Given the description of an element on the screen output the (x, y) to click on. 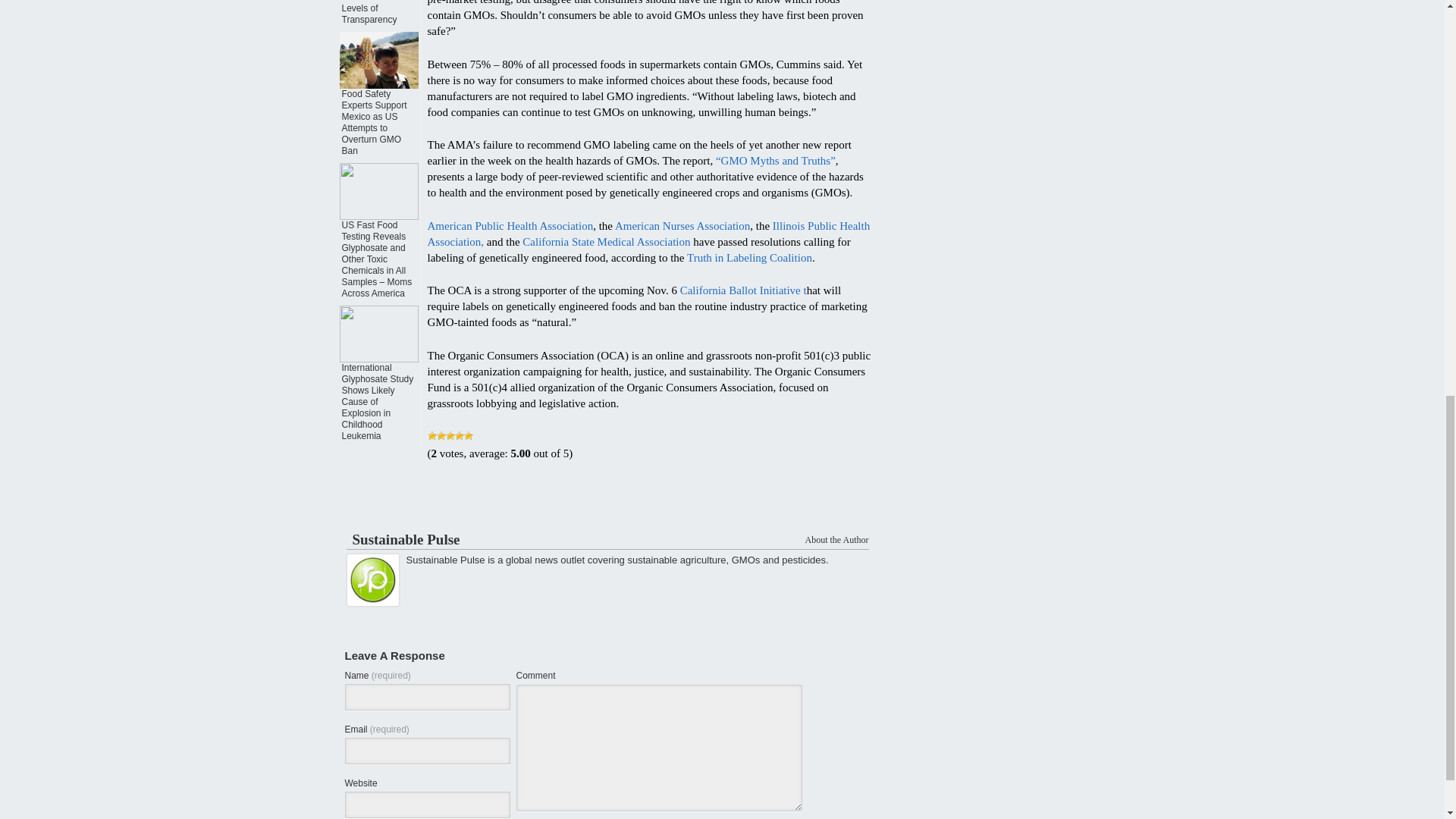
1 Star (432, 435)
2 Stars (440, 435)
Posts by Sustainable Pulse (406, 539)
5 Stars (468, 435)
4 Stars (459, 435)
3 Stars (449, 435)
